Given the description of an element on the screen output the (x, y) to click on. 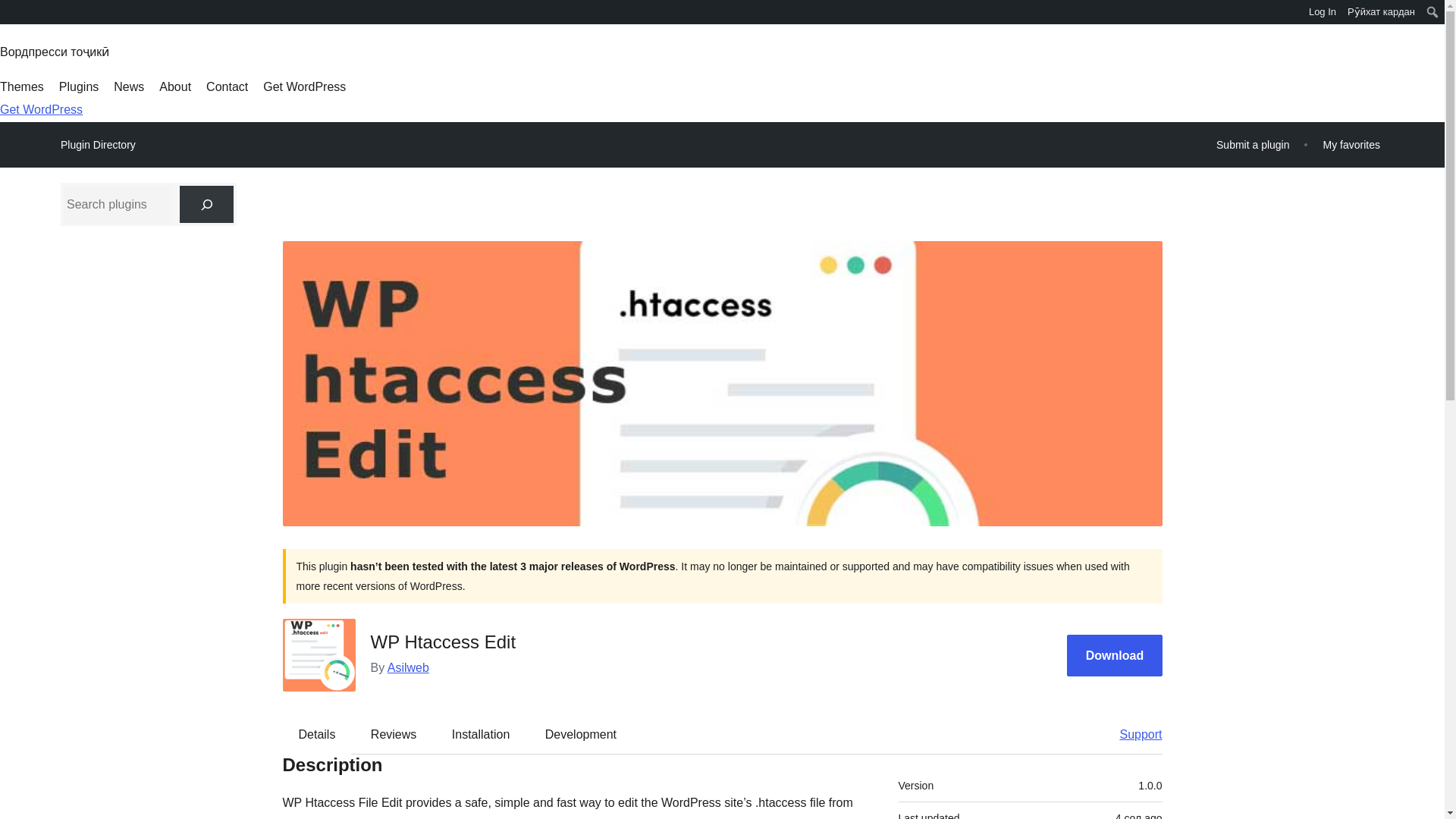
Themes (21, 87)
WordPress.org (10, 16)
Reviews (392, 733)
Asilweb (408, 667)
Get WordPress (41, 109)
Support (1132, 733)
Log In (1322, 12)
News (128, 87)
Download (1114, 655)
Development (580, 733)
About (174, 87)
Plugin Directory (97, 144)
Plugins (79, 87)
Contact (226, 87)
Installation (480, 733)
